Given the description of an element on the screen output the (x, y) to click on. 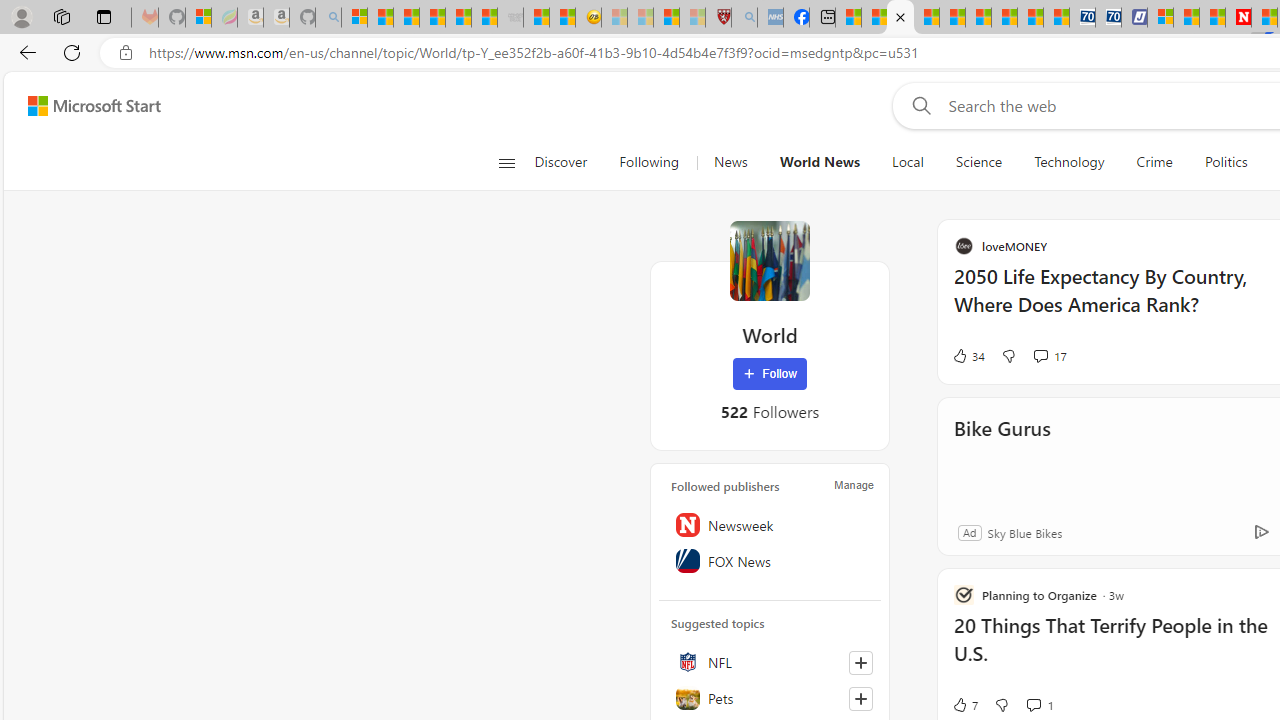
Follow (769, 373)
Pets (770, 697)
